Given the description of an element on the screen output the (x, y) to click on. 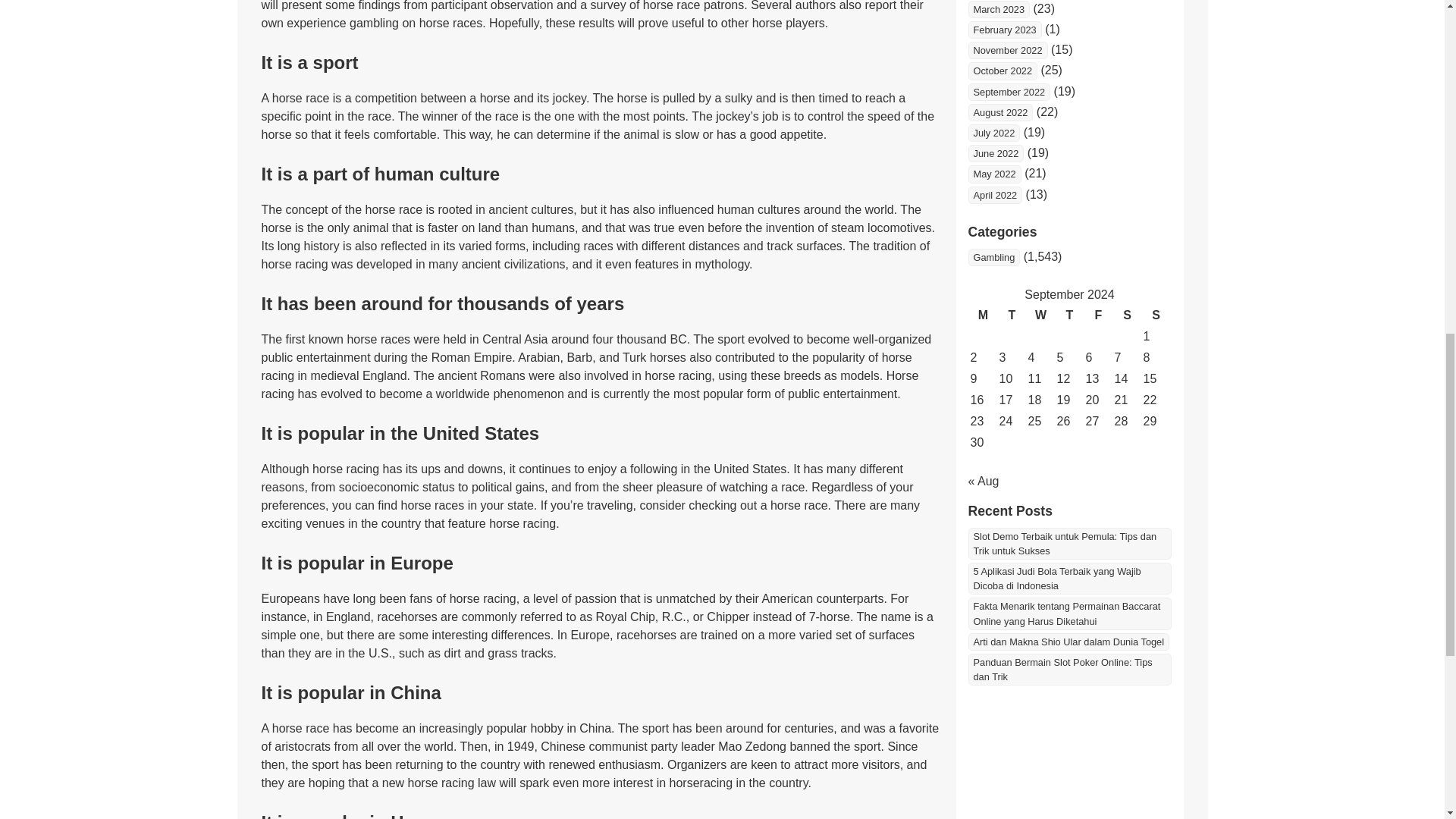
Wednesday (1040, 315)
May 2022 (994, 173)
April 2022 (995, 194)
Monday (982, 315)
February 2023 (1004, 29)
March 2023 (998, 9)
September 2022 (1008, 91)
Gambling (994, 257)
Saturday (1126, 315)
Thursday (1069, 315)
